Given the description of an element on the screen output the (x, y) to click on. 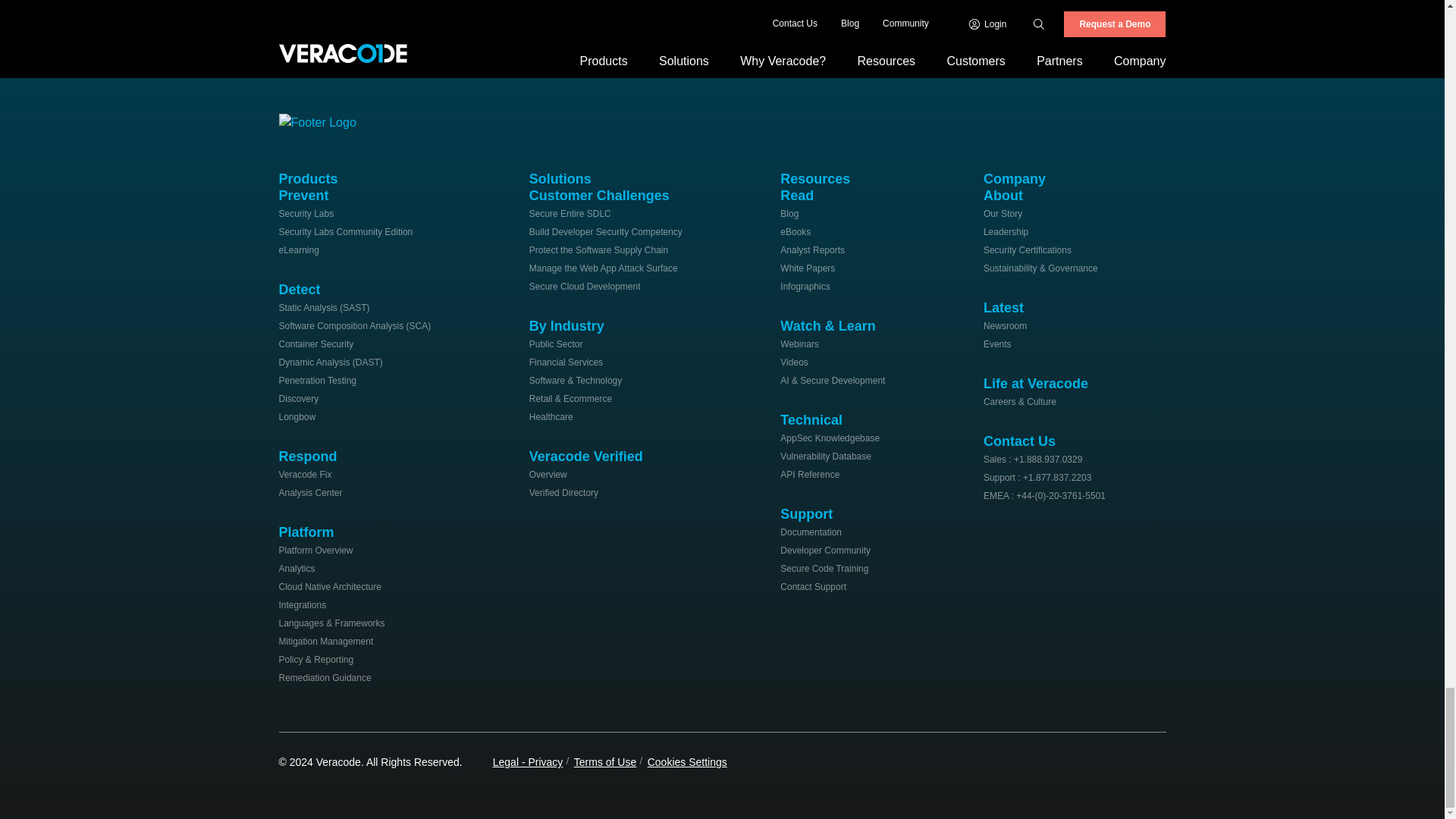
Legal - Privacy (528, 761)
Longbow (297, 416)
Cookies Settings (686, 761)
Terms of Use (604, 761)
VeraCode (325, 119)
